Given the description of an element on the screen output the (x, y) to click on. 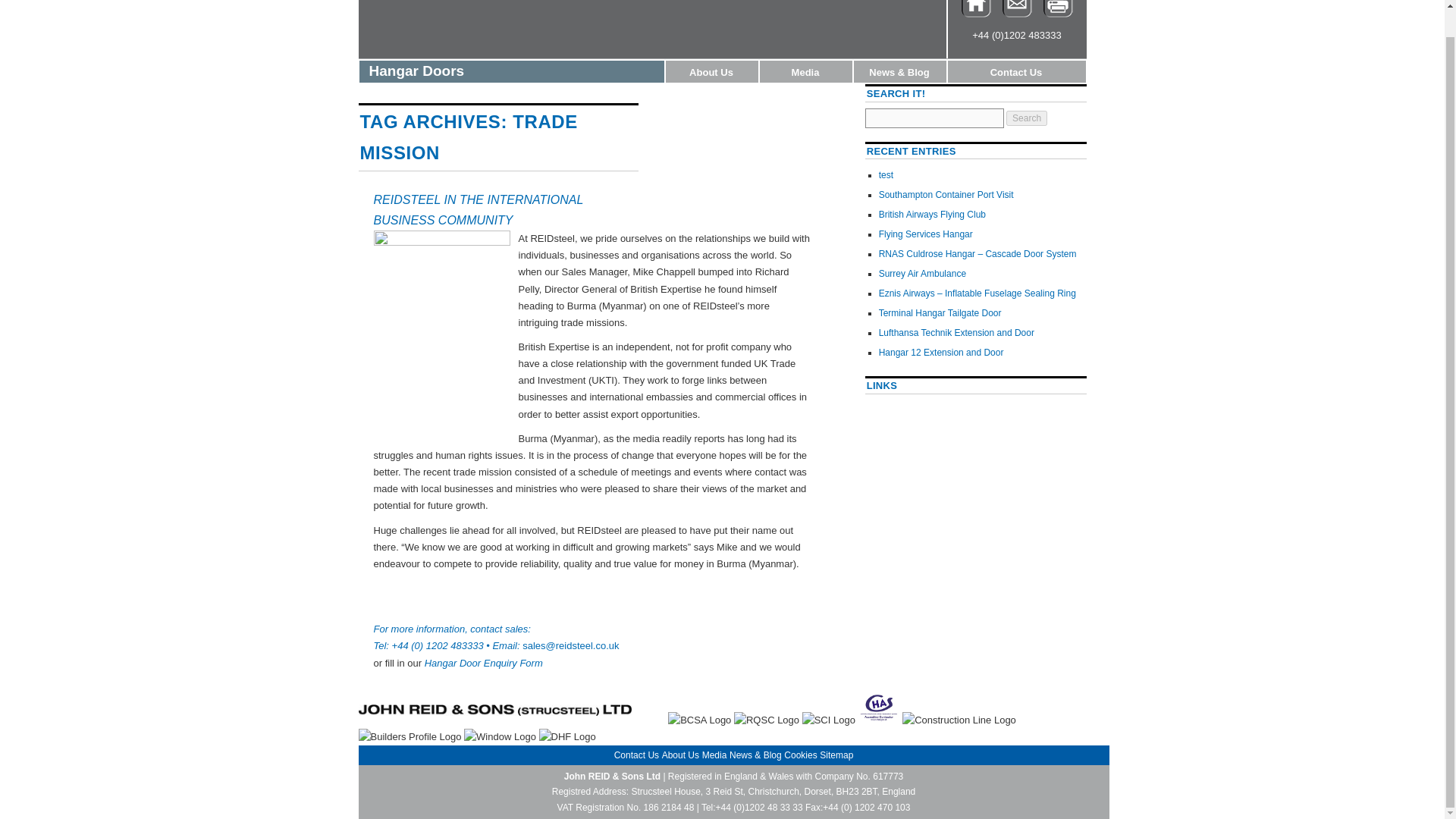
REIDSTEEL IN THE INTERNATIONAL BUSINESS COMMUNITY (477, 209)
Hangar Doors (511, 71)
About Us (711, 71)
